Given the description of an element on the screen output the (x, y) to click on. 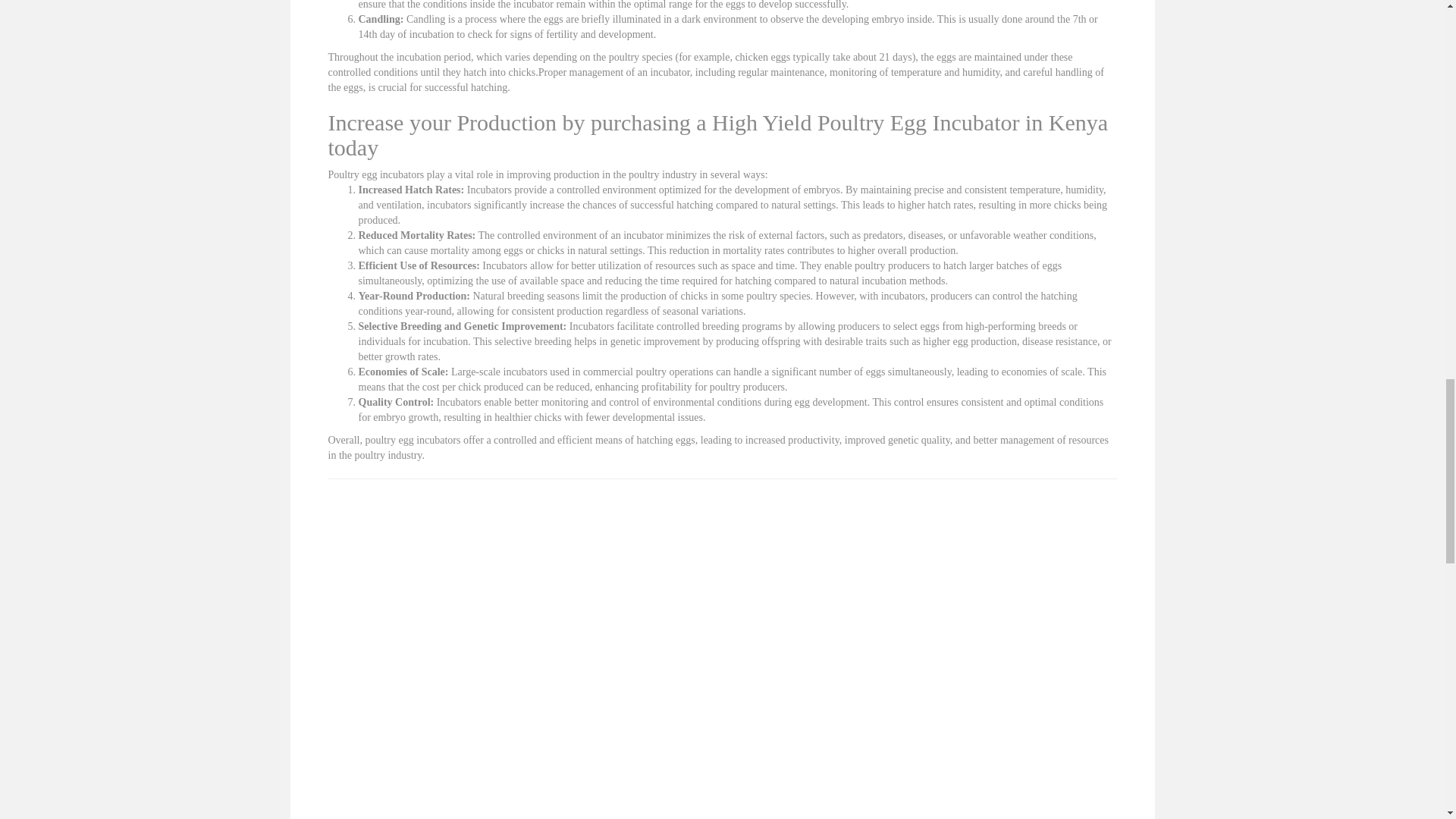
YouTube video player (539, 613)
